Given the description of an element on the screen output the (x, y) to click on. 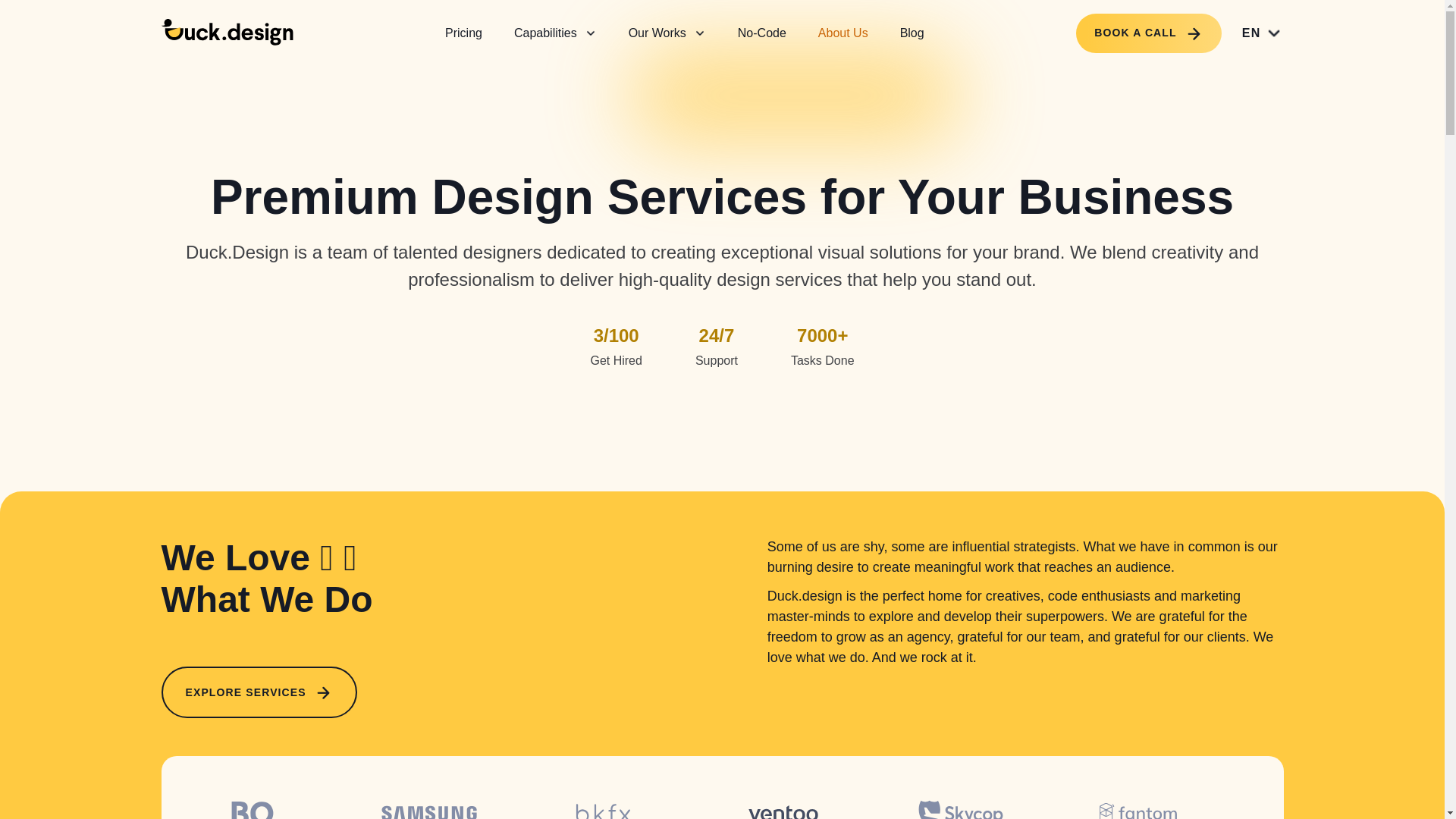
No-Code (762, 32)
Capabilities (555, 32)
EN (1262, 33)
Blog (911, 32)
About Us (842, 32)
Our Works (667, 32)
BOOK A CALL (1148, 33)
Pricing (463, 32)
